Given the description of an element on the screen output the (x, y) to click on. 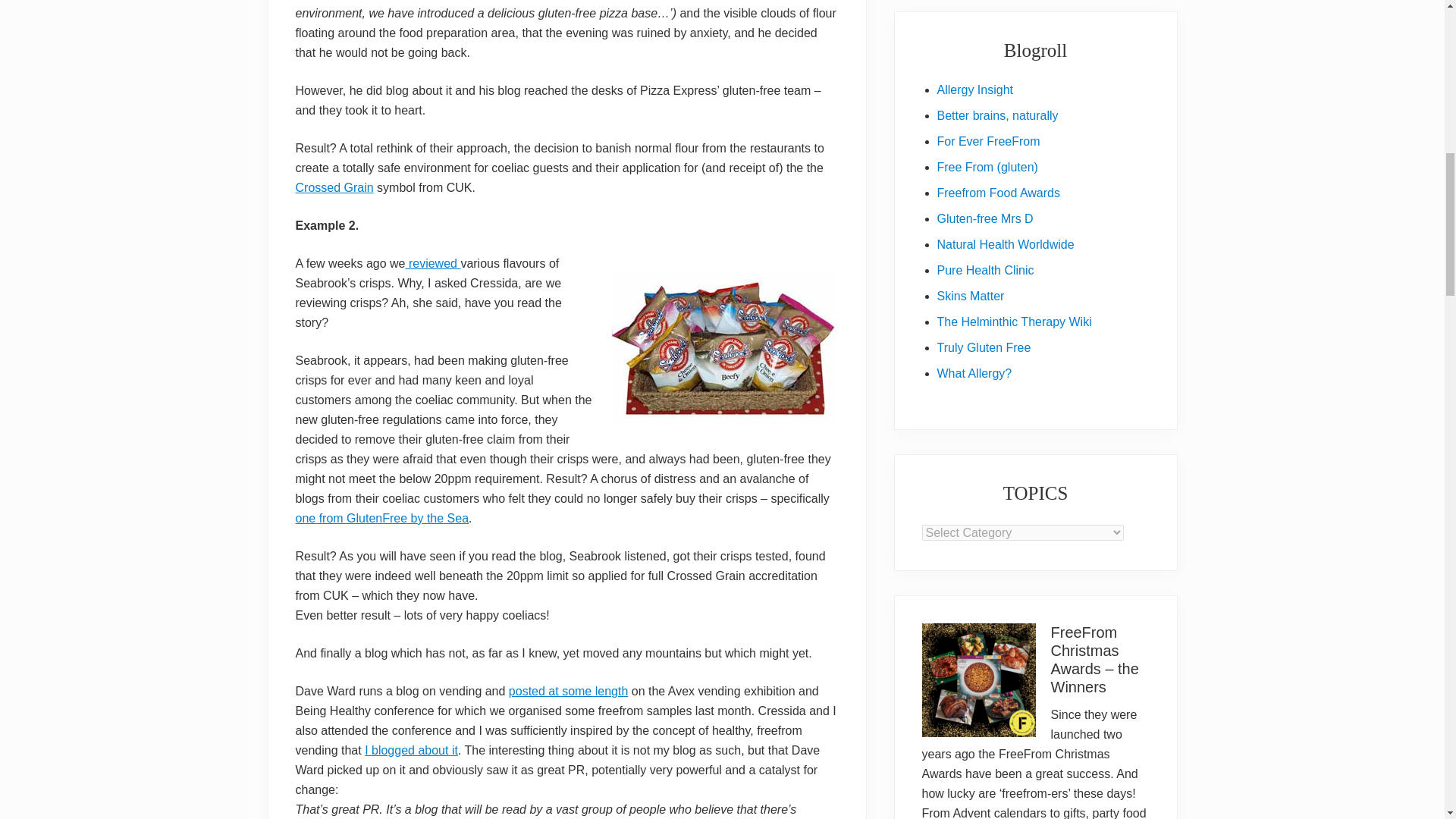
I blogged about it (411, 749)
one from GlutenFree by the Sea (381, 517)
Living with coeliac disease (987, 166)
reviewed (432, 263)
posted at some length (567, 690)
Crossed Grain (334, 187)
free from food awards website (998, 192)
Interesting blog from anaphylaxis sufferer (974, 373)
